Given the description of an element on the screen output the (x, y) to click on. 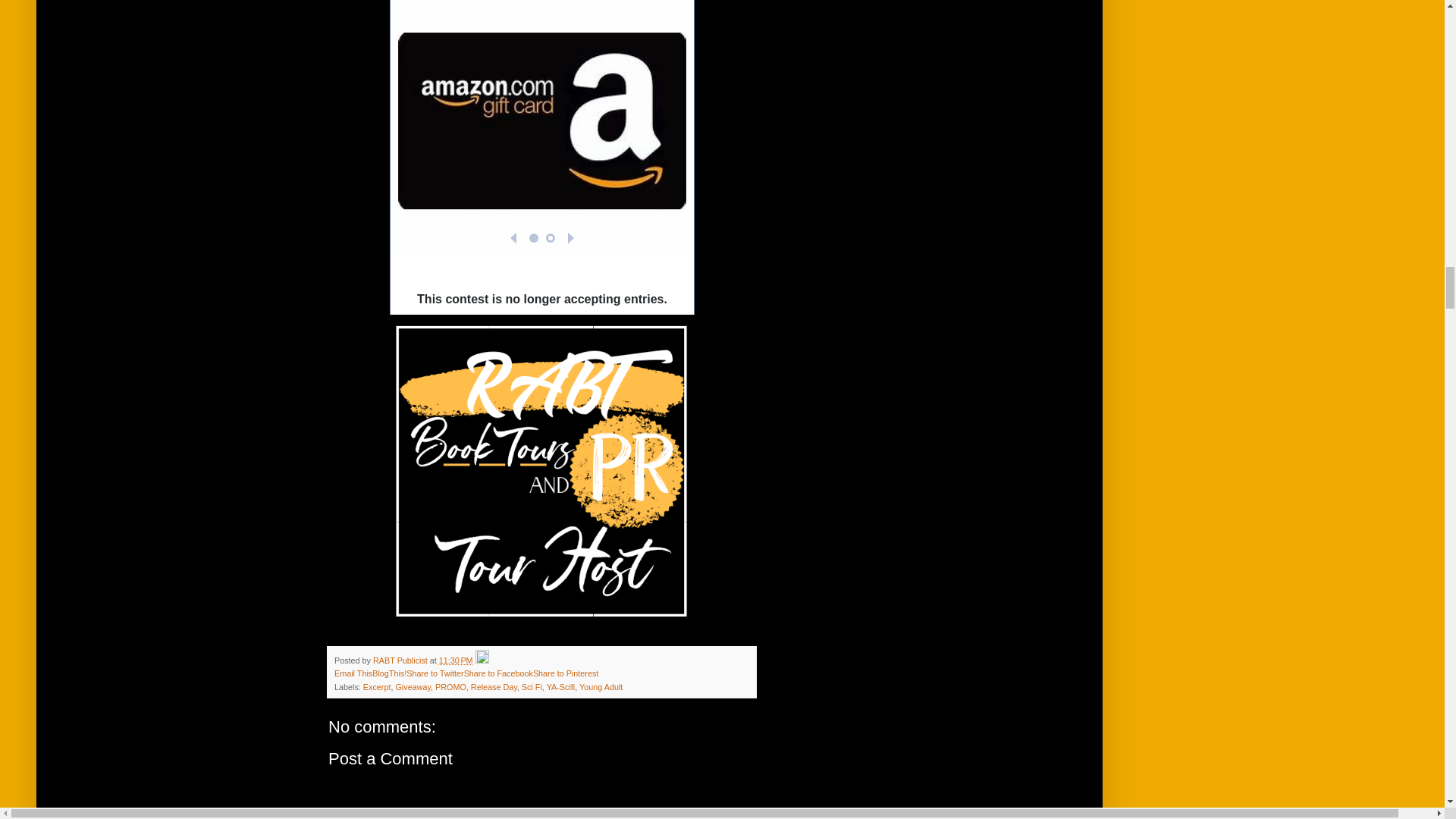
PROMO (450, 686)
Release Day (493, 686)
Share to Pinterest (565, 673)
BlogThis! (389, 673)
Share to Twitter (434, 673)
Edit Post (482, 660)
Giveaway (412, 686)
Share to Facebook (498, 673)
Young Adult (601, 686)
YA-Scifi (561, 686)
RABT Publicist (400, 660)
Sci Fi (531, 686)
Email This (353, 673)
permanent link (456, 660)
author profile (400, 660)
